Given the description of an element on the screen output the (x, y) to click on. 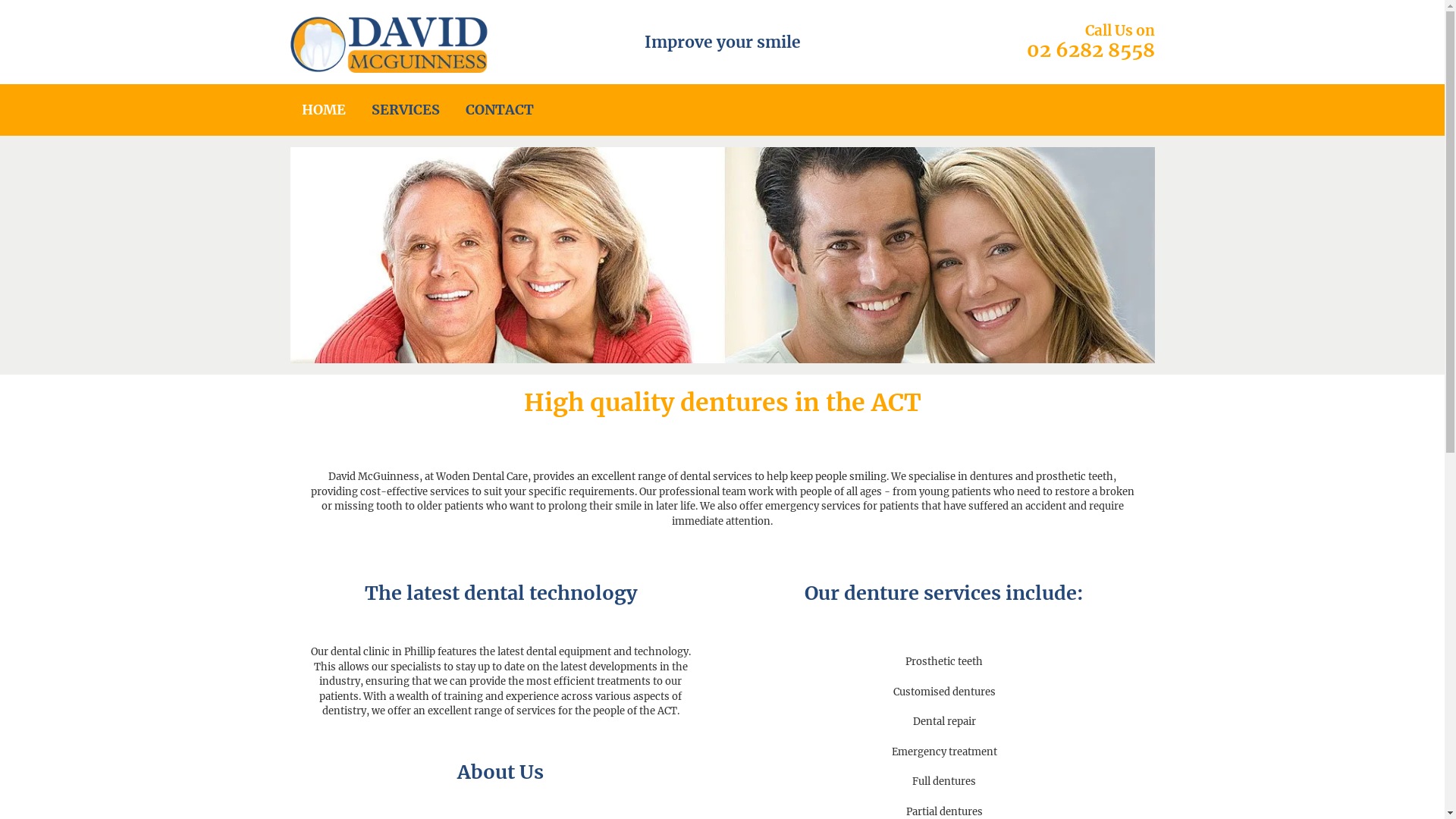
SERVICES Element type: text (405, 109)
CONTACT Element type: text (499, 109)
HOME Element type: text (323, 109)
David McGuinness Element type: hover (389, 41)
02 6282 8558 Element type: text (1090, 49)
Reliable denture repair services in the ACT Element type: hover (721, 255)
